Given the description of an element on the screen output the (x, y) to click on. 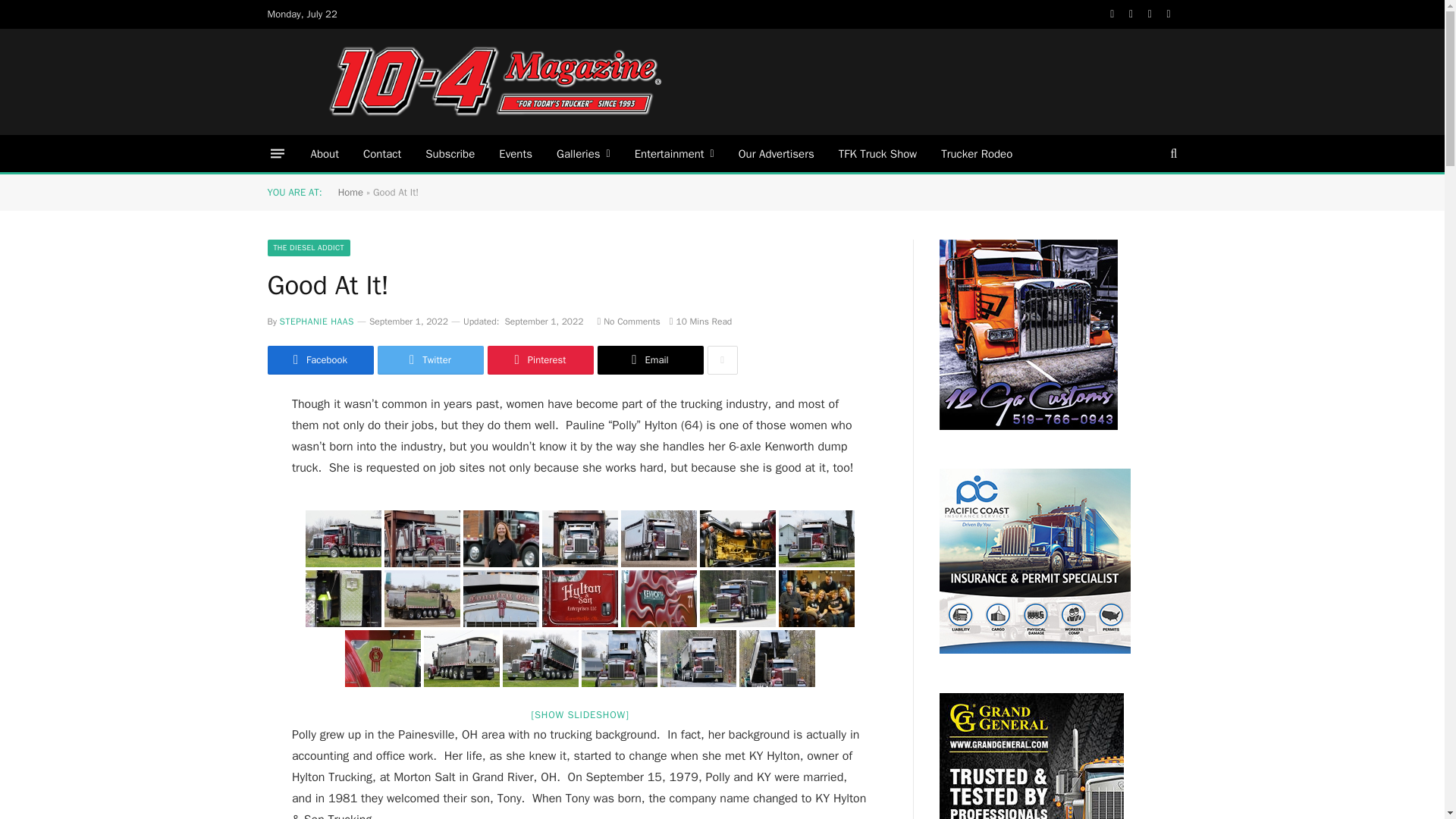
No Comments (627, 321)
Home (349, 192)
Trucker Rodeo (976, 153)
10-4 Magazine (494, 81)
Share via Email (649, 359)
TFK Truck Show (877, 153)
Show More Social Sharing (721, 359)
Twitter (430, 359)
Events (515, 153)
THE DIESEL ADDICT (307, 247)
Subscribe (449, 153)
Galleries (583, 153)
Pinterest (539, 359)
STEPHANIE HAAS (316, 321)
Posts by Stephanie Haas (316, 321)
